Given the description of an element on the screen output the (x, y) to click on. 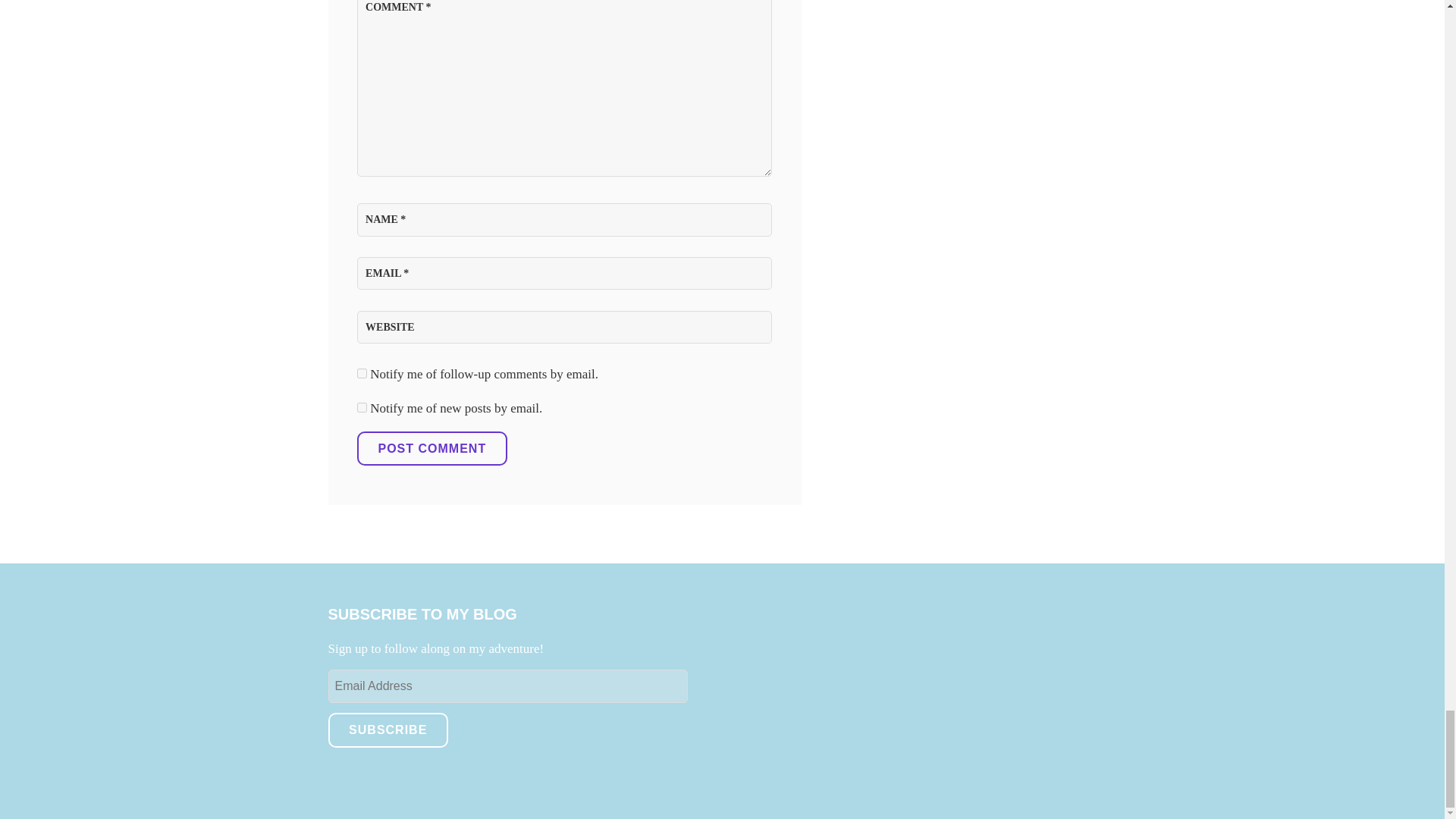
subscribe (361, 407)
subscribe (361, 373)
Post Comment (431, 448)
SUBSCRIBE (386, 729)
Post Comment (431, 448)
